Given the description of an element on the screen output the (x, y) to click on. 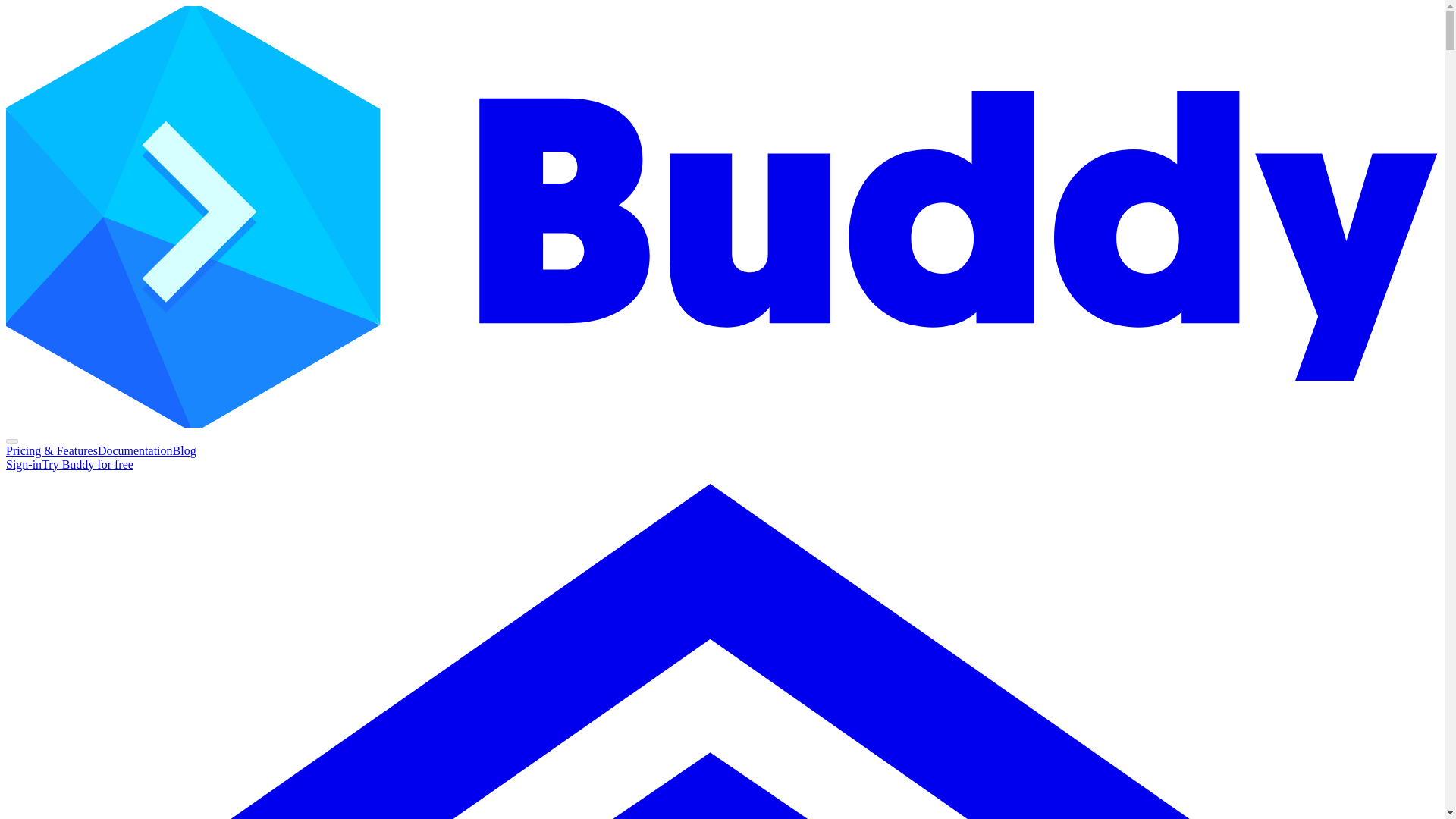
Blog (184, 450)
Try Buddy for free (87, 463)
Documentation (135, 450)
Sign-in (23, 463)
